Given the description of an element on the screen output the (x, y) to click on. 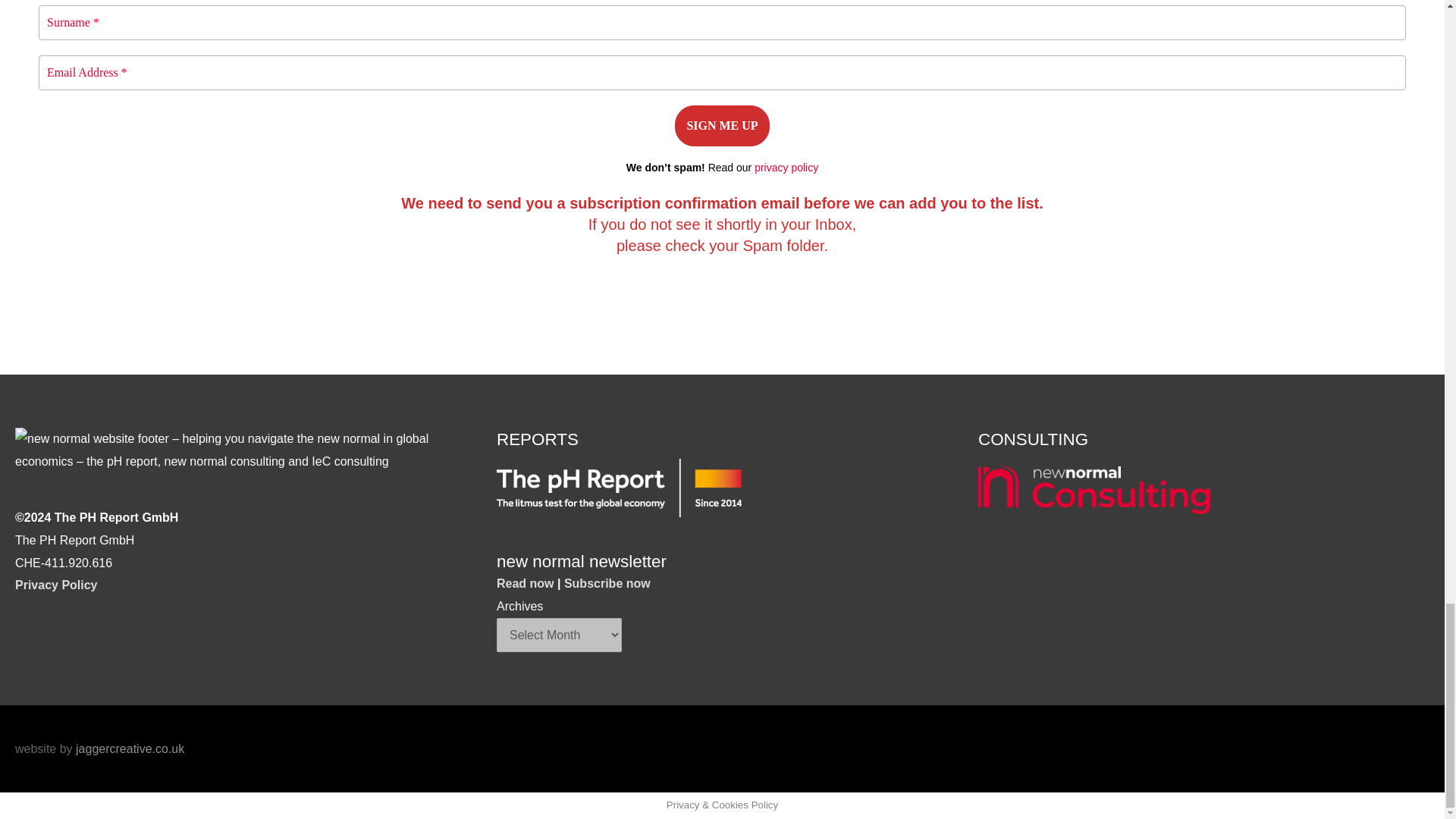
Email Address (722, 72)
Surname (722, 22)
privacy policy (786, 167)
SIGN ME UP (721, 125)
Privacy Policy (55, 584)
SIGN ME UP (721, 125)
Read now (525, 583)
